Given the description of an element on the screen output the (x, y) to click on. 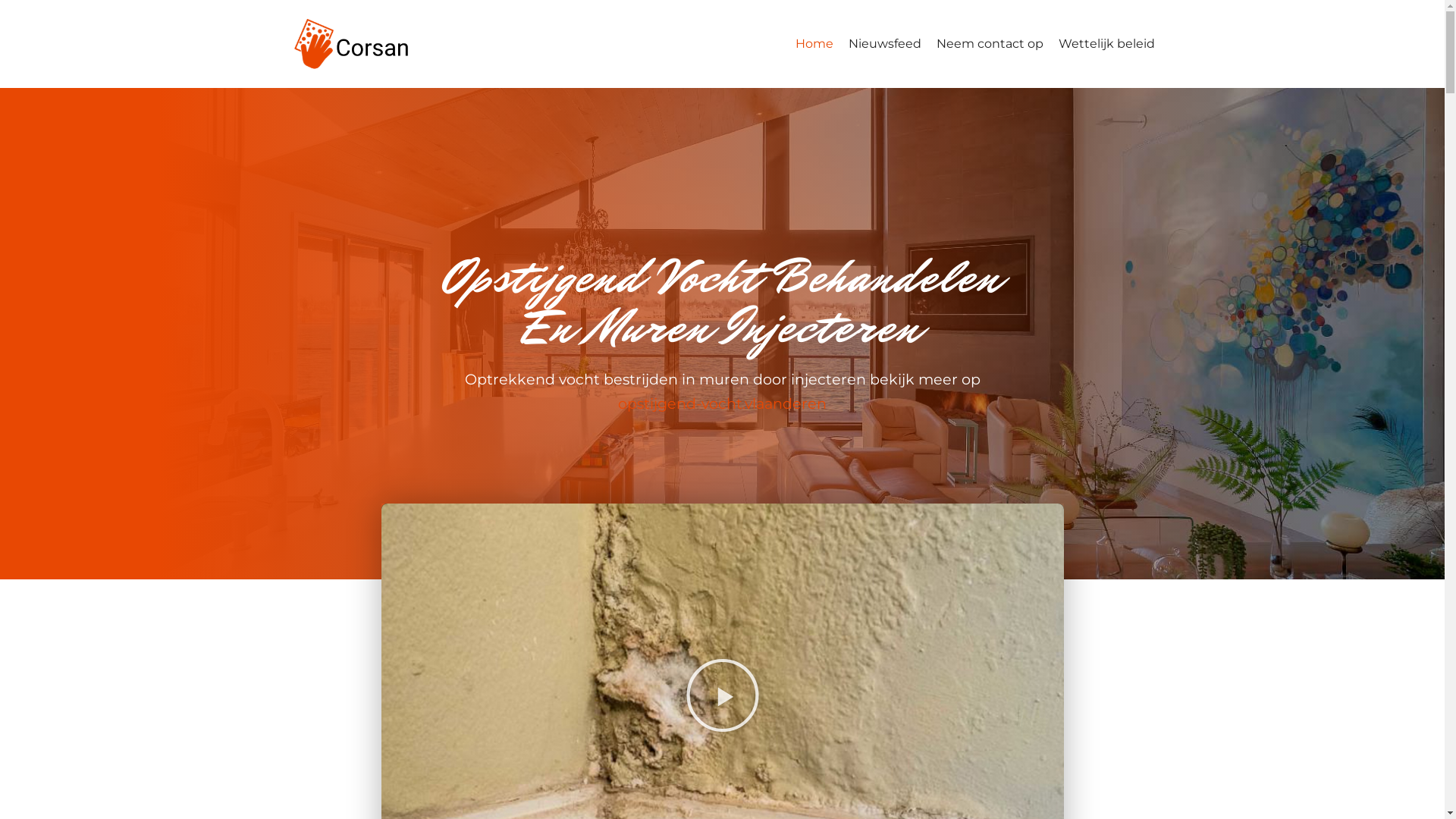
Neem contact op Element type: text (988, 43)
Spring naar de inhoud Element type: text (15, 7)
Wettelijk beleid Element type: text (1106, 43)
Home Element type: text (813, 43)
Corsan Element type: hover (350, 43)
Nieuwsfeed Element type: text (883, 43)
opstijgend-vocht.vlaanderen Element type: text (722, 403)
